Given the description of an element on the screen output the (x, y) to click on. 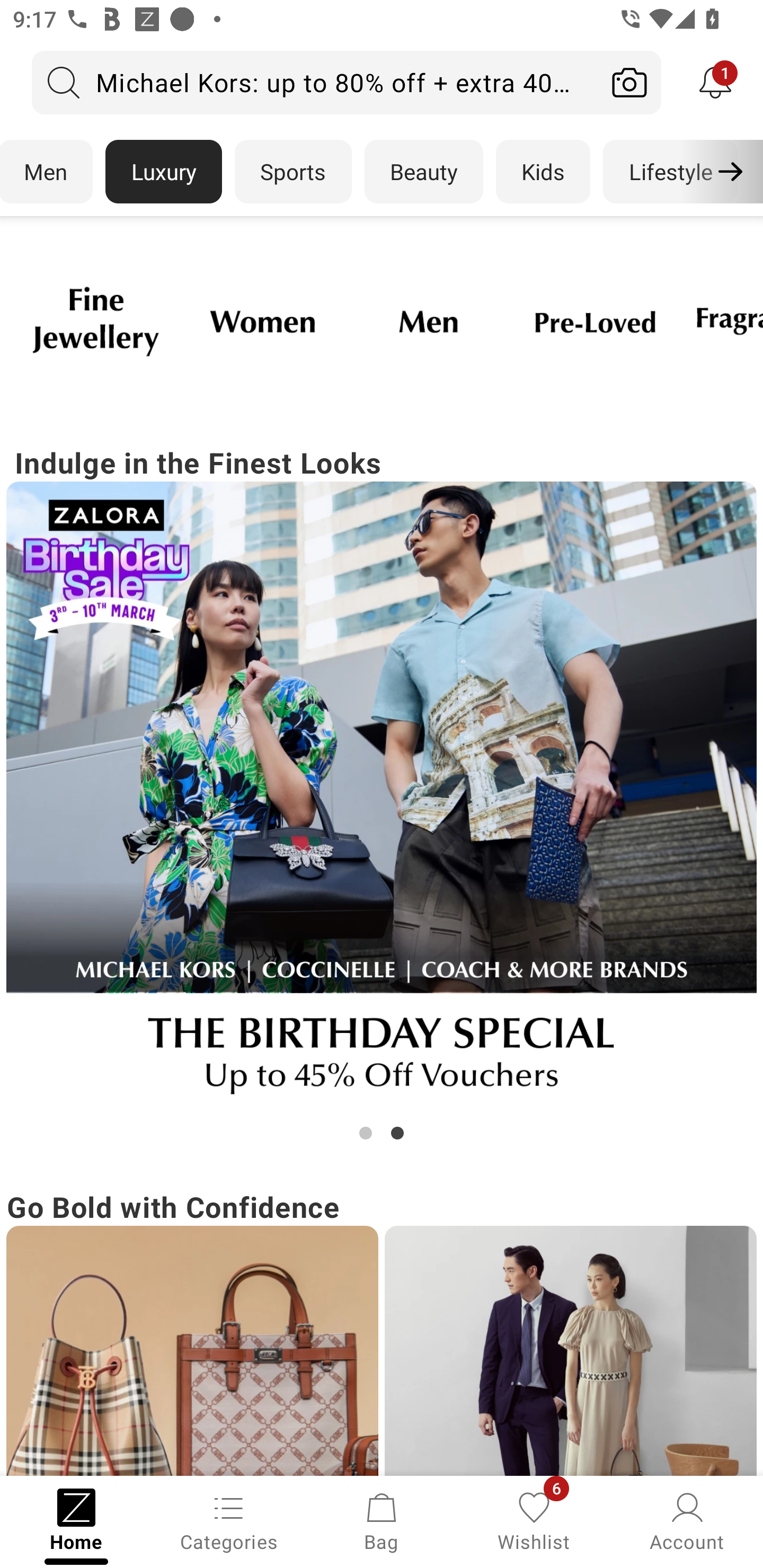
Michael Kors: up to 80% off + extra 40% off (314, 82)
Men (46, 171)
Luxury (163, 171)
Sports (293, 171)
Beauty (423, 171)
Kids (542, 171)
Lifestyle (669, 171)
Campaign banner (95, 321)
Campaign banner (261, 321)
Campaign banner (428, 321)
Campaign banner (594, 321)
 Indulge in the Finest Looks Campaign banner (381, 792)
Campaign banner (381, 797)
Campaign banner (192, 1350)
Campaign banner (570, 1350)
Categories (228, 1519)
Bag (381, 1519)
Wishlist, 6 new notifications Wishlist (533, 1519)
Account (686, 1519)
